Given the description of an element on the screen output the (x, y) to click on. 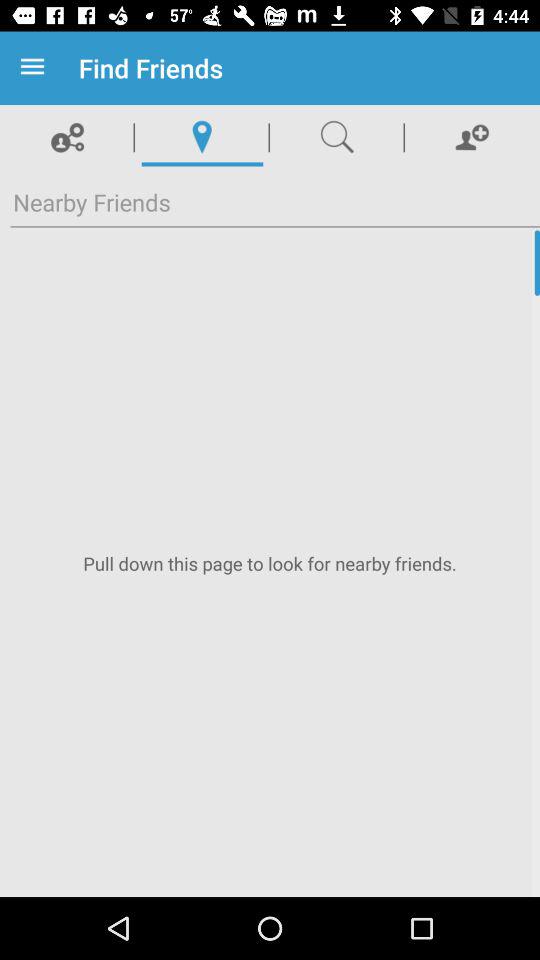
pull down to refresh (270, 563)
